Given the description of an element on the screen output the (x, y) to click on. 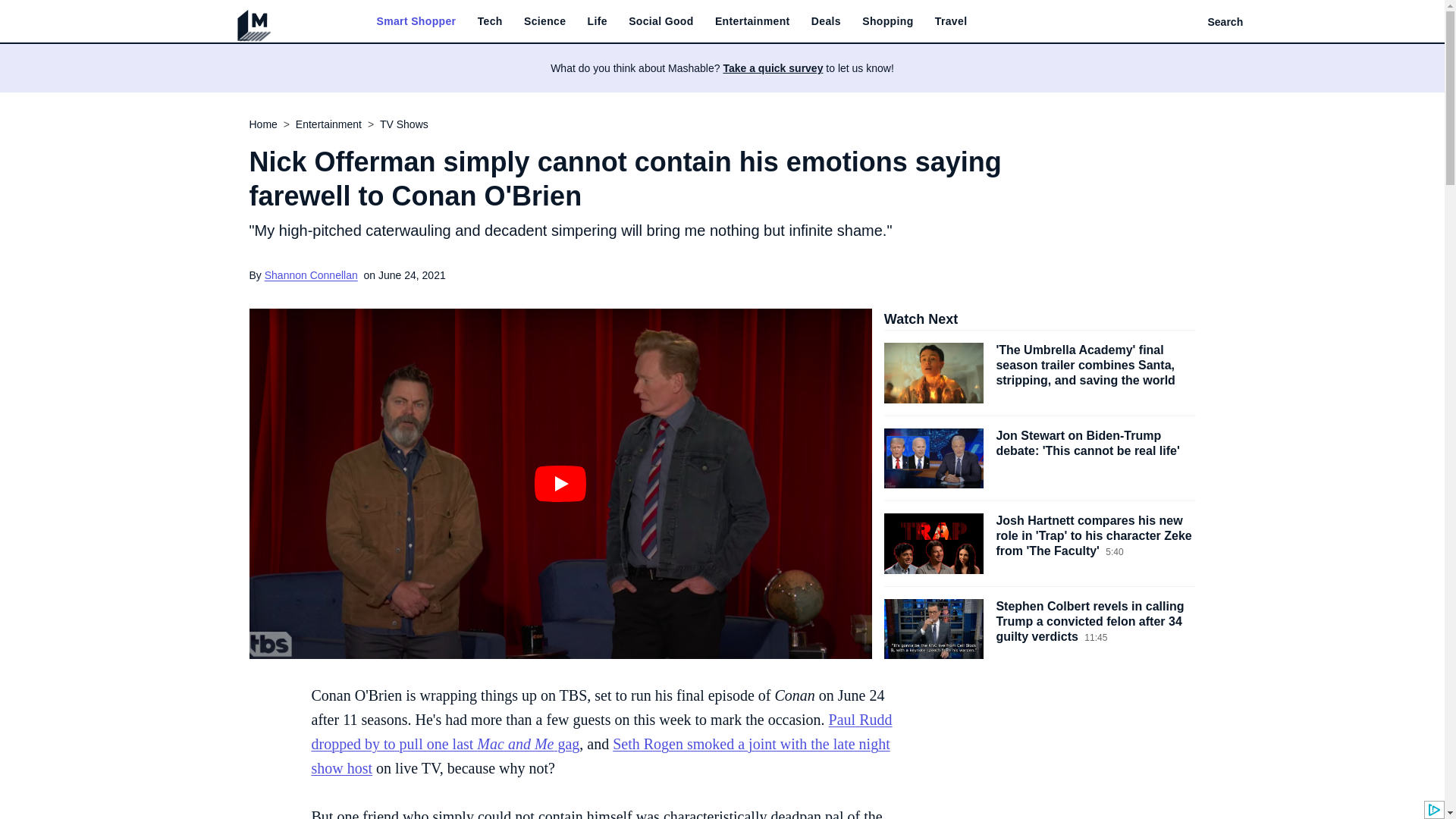
Deals (825, 21)
Social Good (661, 21)
Life (597, 21)
Play (560, 484)
Entertainment (752, 21)
Tech (489, 21)
Smart Shopper (415, 21)
Science (545, 21)
Shopping (886, 21)
Travel (951, 21)
